Given the description of an element on the screen output the (x, y) to click on. 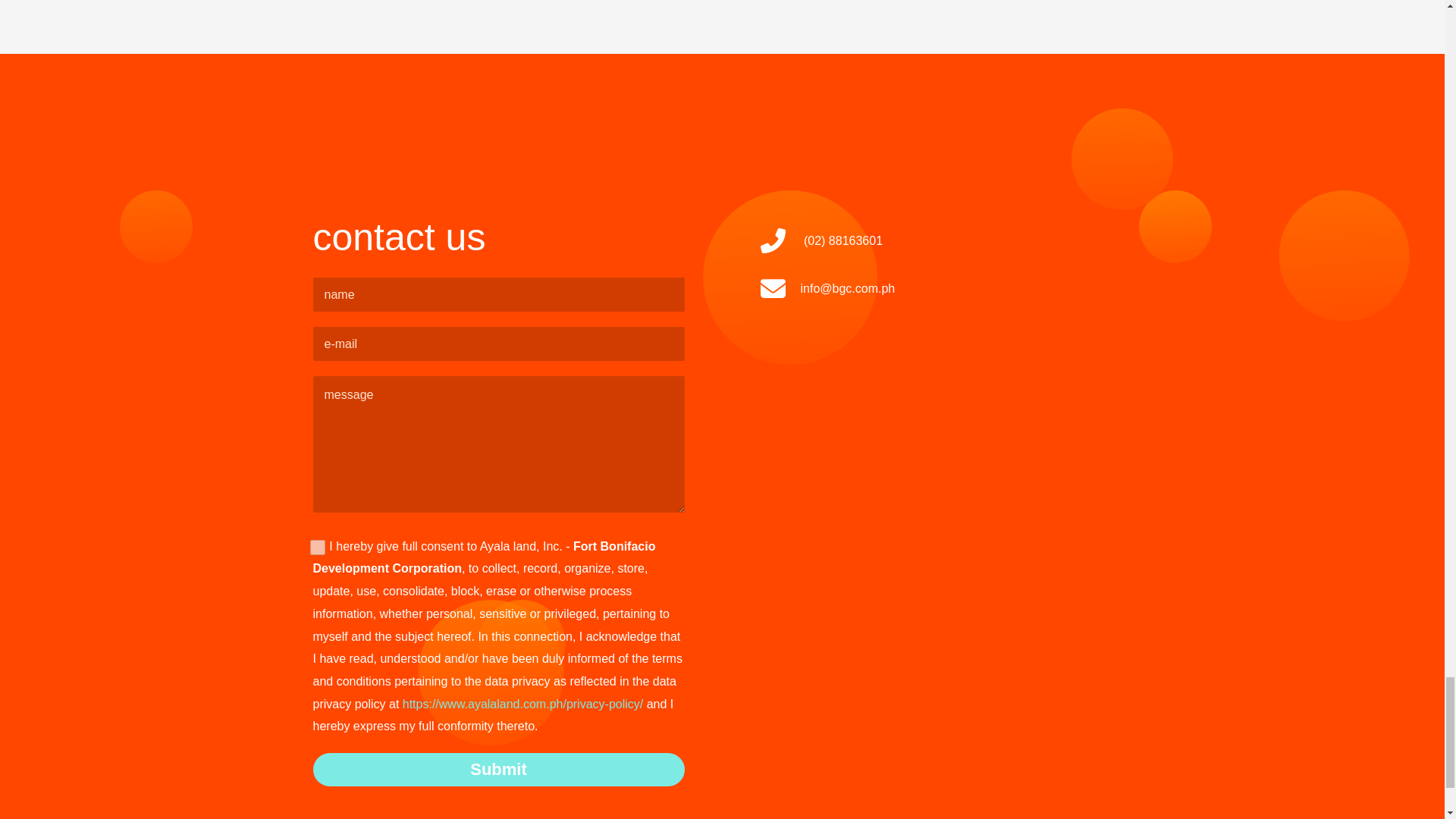
Google Map for  (945, 510)
Central Bark BGC (1393, 2)
Balanghai (61, 2)
Submit (498, 769)
1 (317, 547)
